Given the description of an element on the screen output the (x, y) to click on. 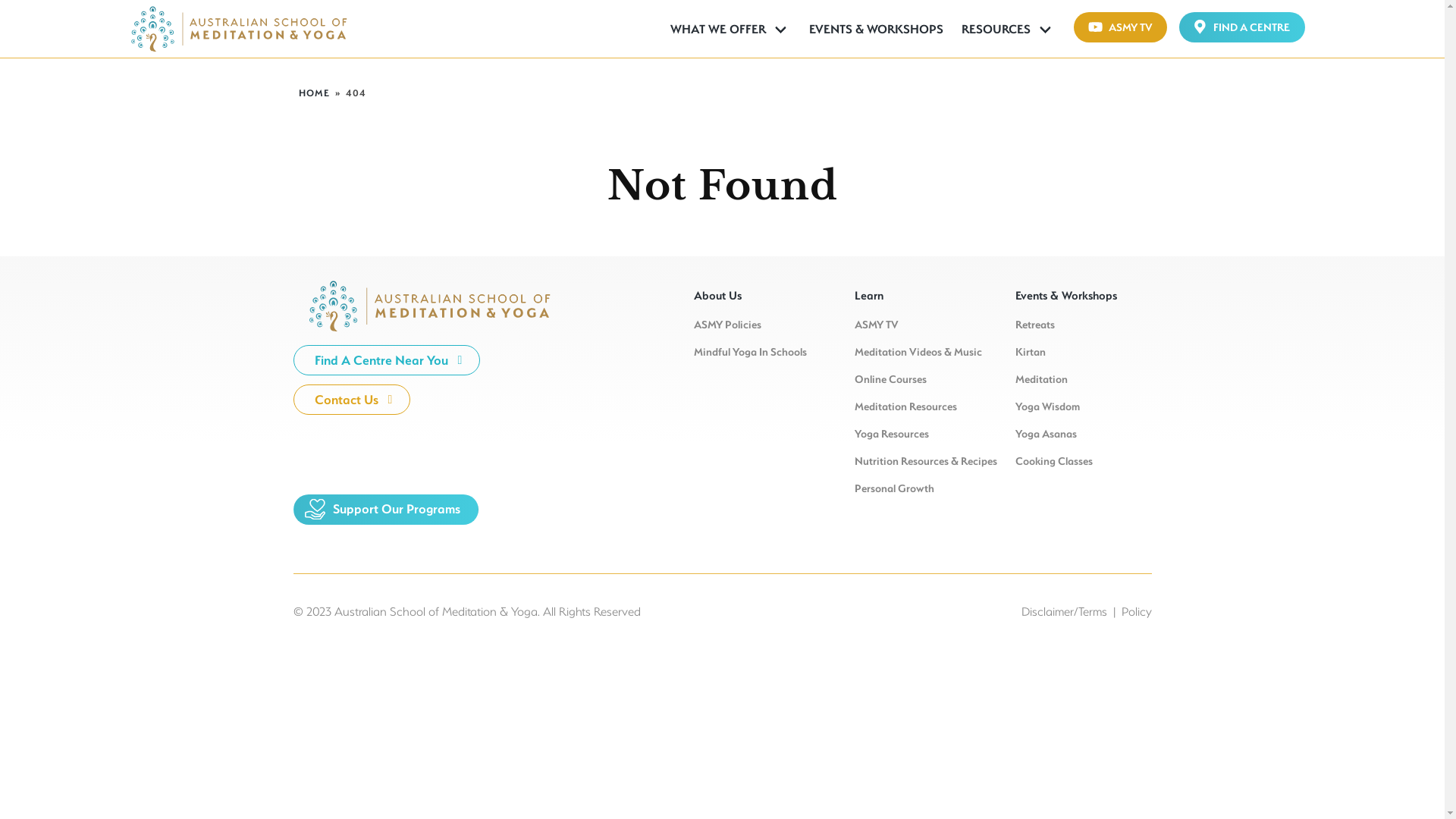
Yoga Wisdom Element type: text (1046, 406)
Online Courses Element type: text (889, 379)
HOME Element type: text (313, 92)
Yoga Resources Element type: text (890, 433)
Support Our Programs Element type: text (384, 509)
Disclaimer/Terms Element type: text (1063, 610)
Learn Element type: text (921, 296)
Yoga Asanas Element type: text (1045, 433)
Events & Workshops Element type: text (1082, 296)
ASMY TV Element type: text (875, 324)
RESOURCES Element type: text (1008, 28)
ASMY Policies Element type: text (726, 324)
Meditation Resources Element type: text (904, 406)
Nutrition Resources & Recipes Element type: text (924, 460)
Meditation Element type: text (1040, 379)
Retreats Element type: text (1034, 324)
AUSTRALIAN SCHOOL OF MEDITATION &AMP; YOGA | ASMY Element type: text (250, 28)
Policy Element type: text (1135, 610)
Kirtan Element type: text (1029, 351)
Mindful Yoga In Schools Element type: text (749, 351)
WHAT WE OFFER Element type: text (730, 28)
Personal Growth Element type: text (893, 488)
Find A Centre Near You Element type: text (386, 360)
EVENTS & WORKSHOPS Element type: text (876, 28)
Meditation Videos & Music Element type: text (917, 351)
Contact Us Element type: text (351, 399)
Cooking Classes Element type: text (1053, 460)
About Us Element type: text (761, 296)
ASMY TV Element type: text (1120, 27)
FIND A CENTRE Element type: text (1242, 27)
